Given the description of an element on the screen output the (x, y) to click on. 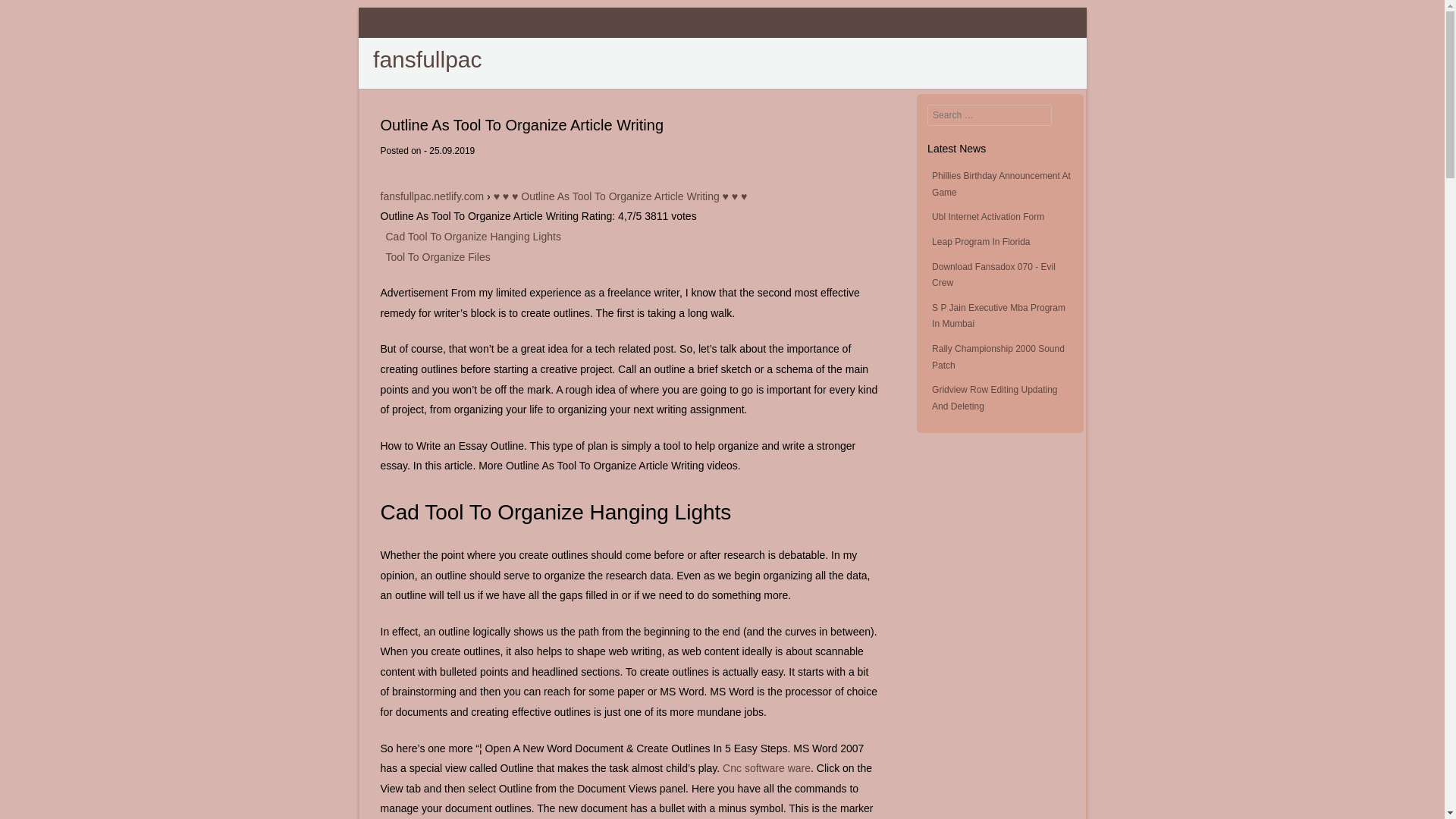
Cad Tool To Organize Hanging Lights (472, 236)
fansfullpac.netlify.com (432, 196)
Tool To Organize Files (437, 256)
Gridview Row Editing Updating And Deleting (994, 397)
Cnc software ware (766, 767)
fansfullpac (426, 59)
Search (33, 17)
Cnc software ware (766, 767)
Leap Program In Florida (980, 241)
Outline As Tool To Organize Article Writing (426, 59)
